Given the description of an element on the screen output the (x, y) to click on. 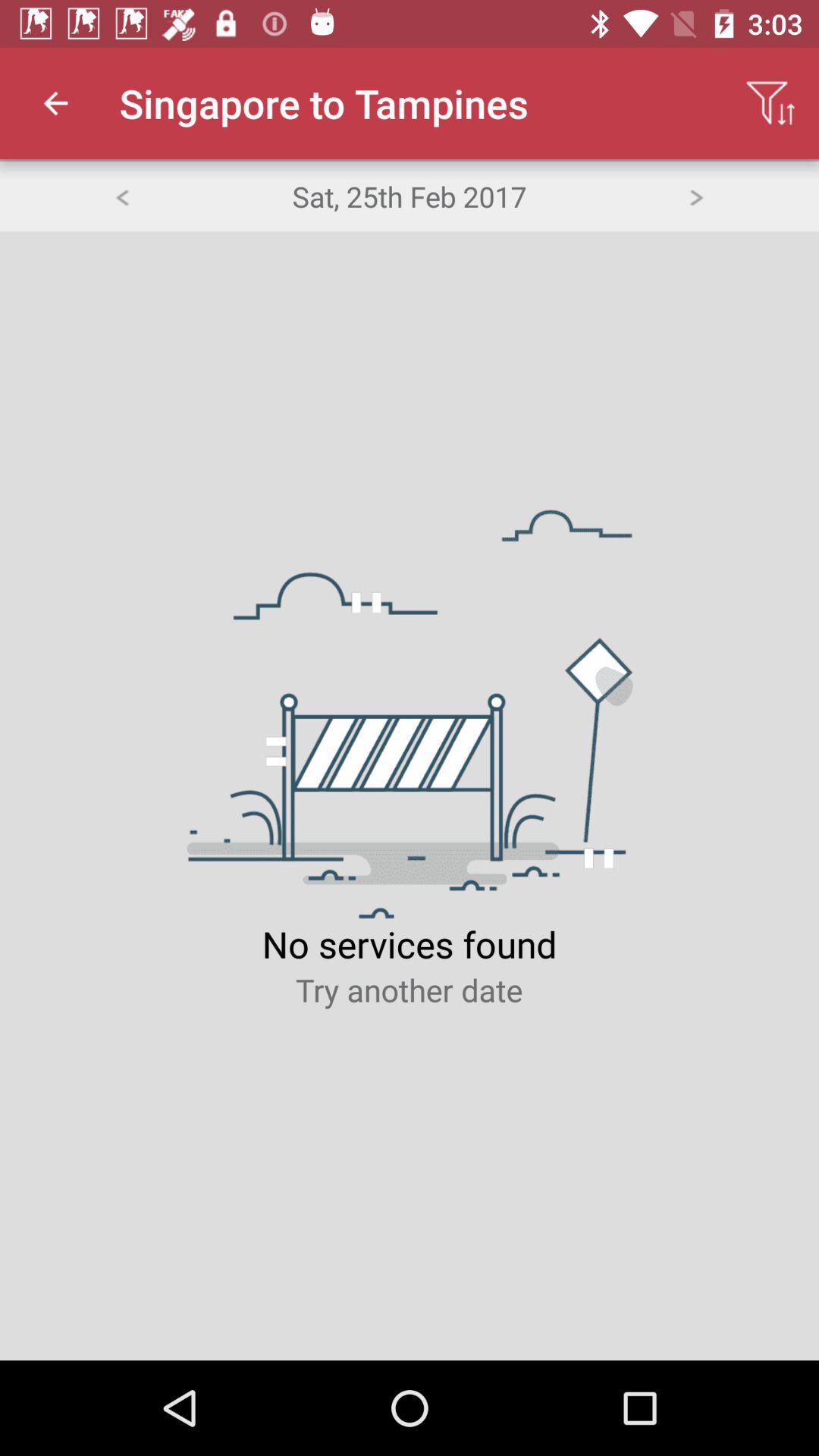
go back (121, 196)
